Given the description of an element on the screen output the (x, y) to click on. 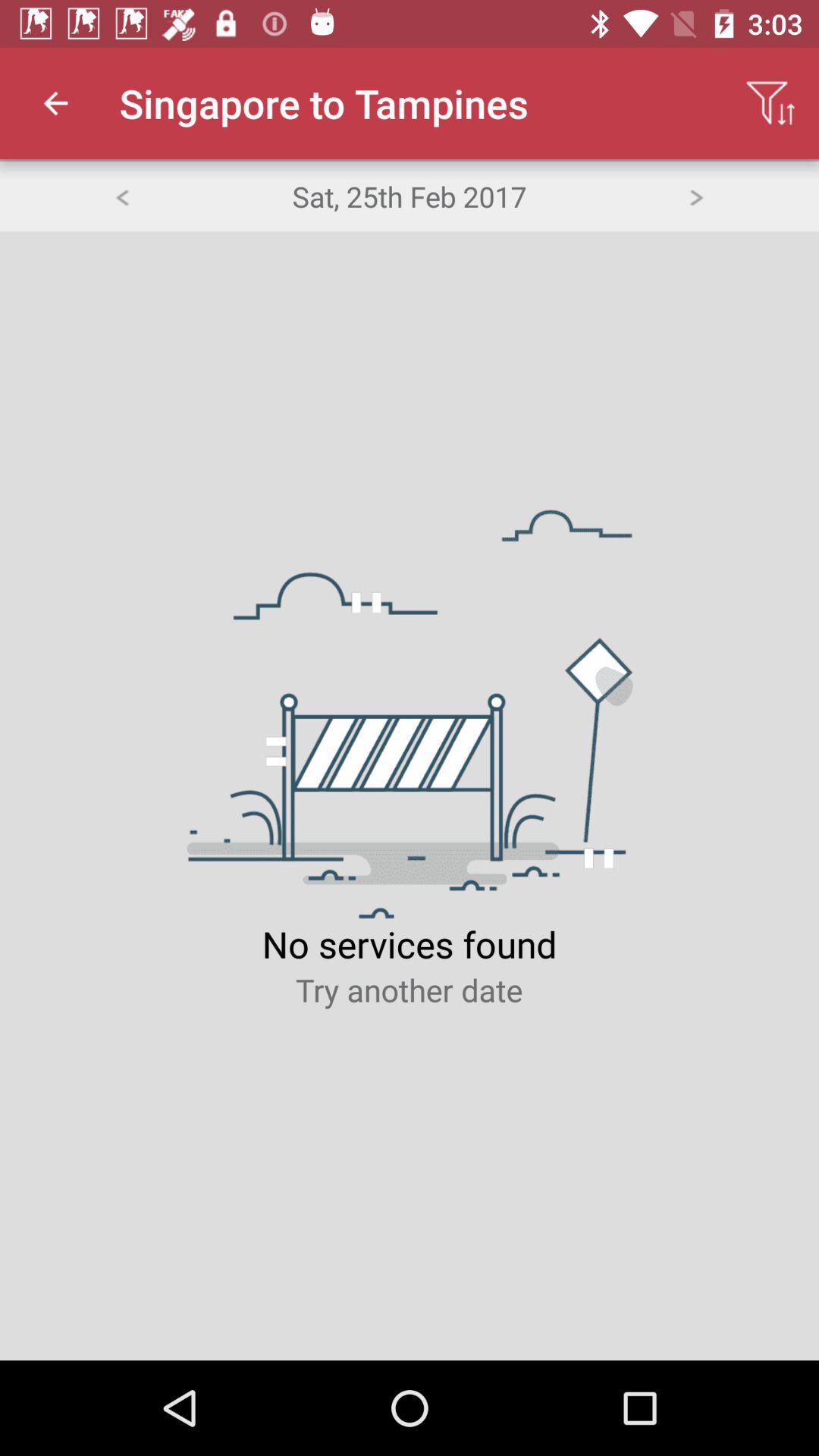
go back (121, 196)
